Given the description of an element on the screen output the (x, y) to click on. 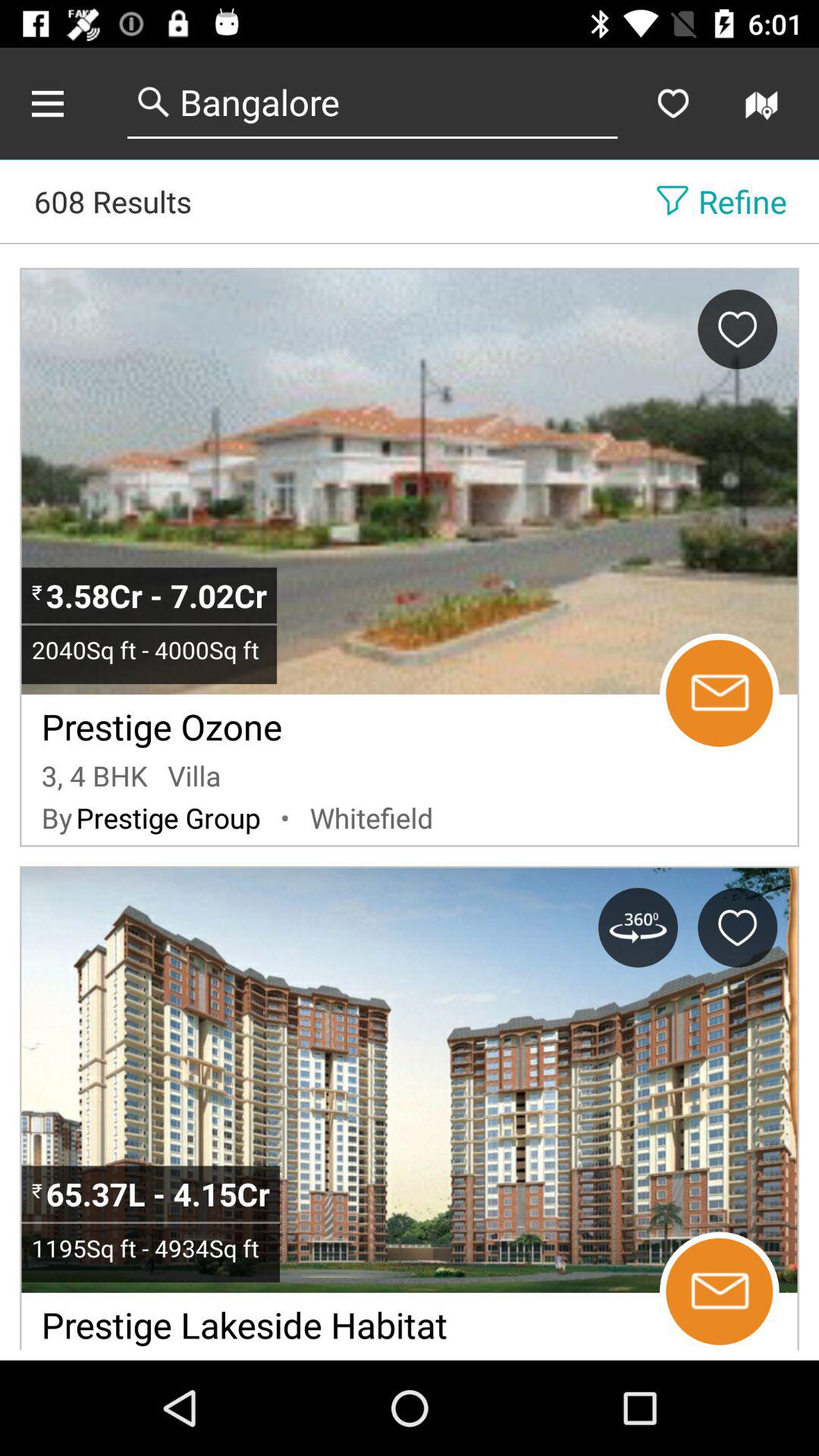
make as a favorite search (673, 103)
